Given the description of an element on the screen output the (x, y) to click on. 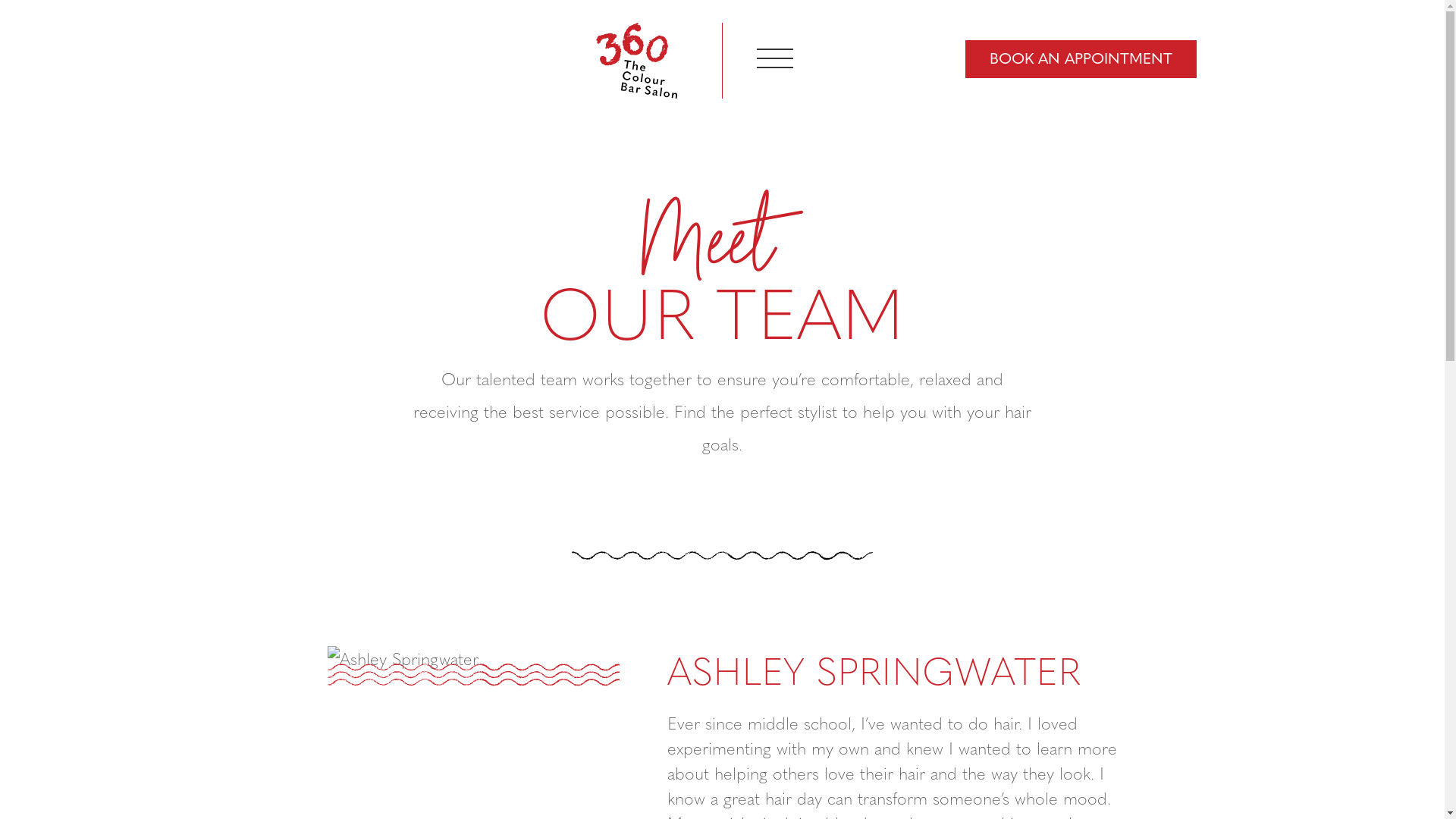
BOOK AN APPOINTMENT Element type: text (1079, 58)
